Given the description of an element on the screen output the (x, y) to click on. 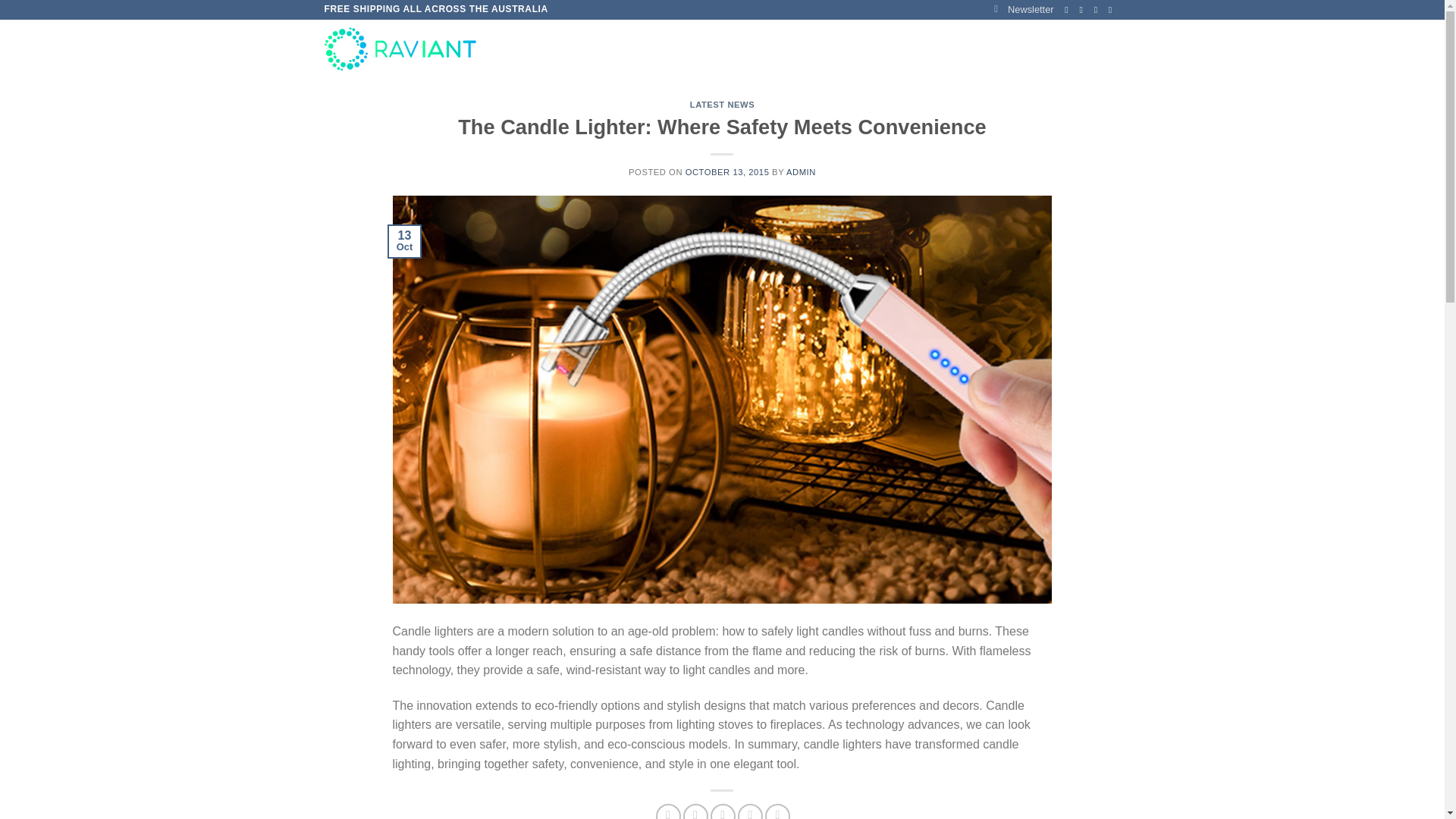
Cart (1074, 48)
ADMIN (800, 171)
OCTOBER 13, 2015 (727, 171)
HOME (544, 48)
OUR PRODUCTS (622, 48)
BLOGS (827, 48)
ABOUT (704, 48)
Share on Facebook (668, 811)
Share on Twitter (694, 811)
Sign up for Newsletter (1023, 9)
